Given the description of an element on the screen output the (x, y) to click on. 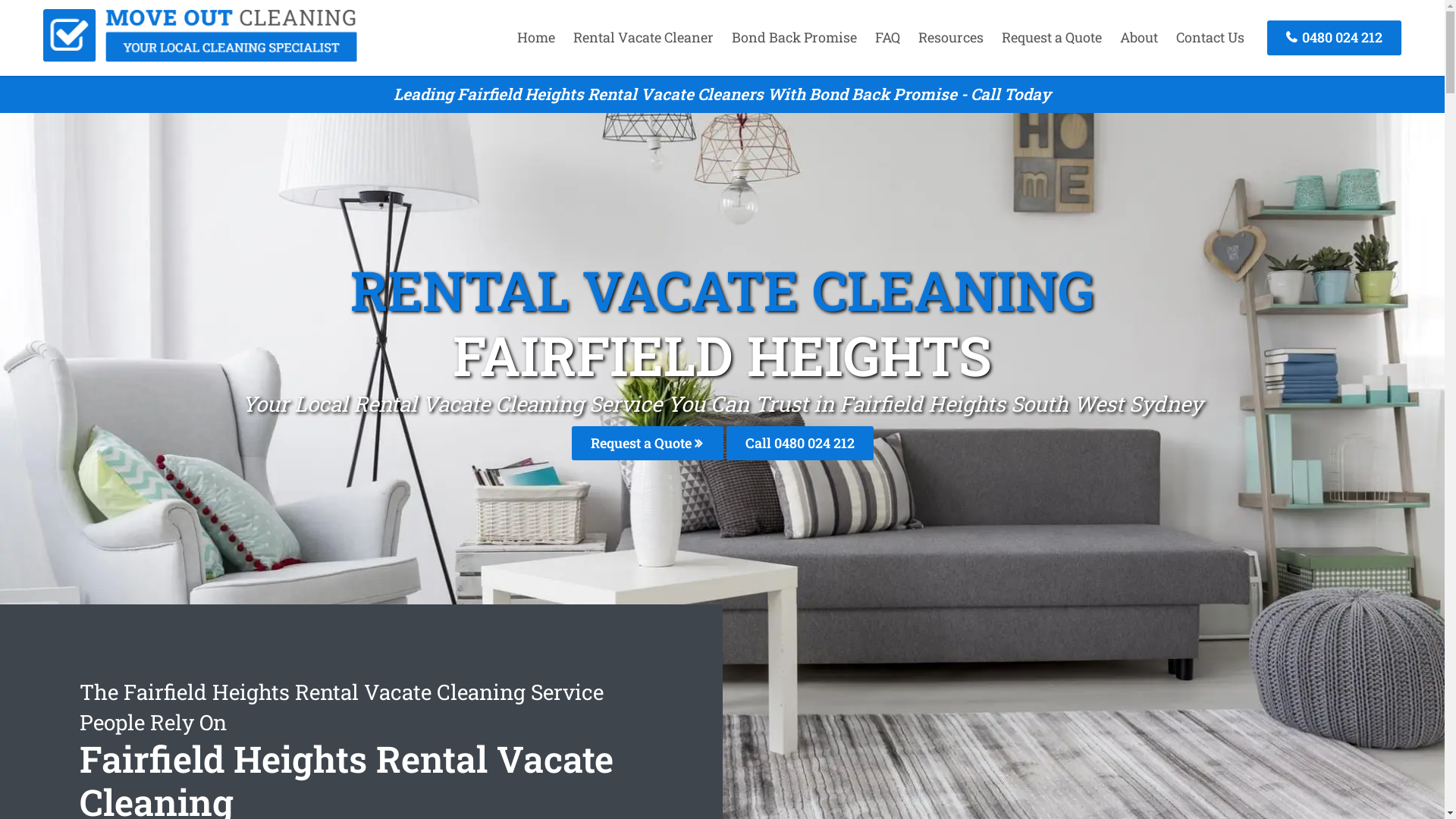
0480 024 212 Element type: text (1334, 37)
End of Lease Cleaning Element type: hover (200, 56)
Rental Vacate Cleaner Element type: text (643, 37)
About Element type: text (1138, 37)
Call 0480 024 212 Element type: text (799, 443)
Request a Quote Element type: text (1051, 37)
Bond Back Promise Element type: text (794, 37)
FAQ Element type: text (887, 37)
Request a Quote Element type: text (647, 443)
Home Element type: text (535, 37)
Resources Element type: text (950, 37)
Contact Us Element type: text (1210, 37)
